Given the description of an element on the screen output the (x, y) to click on. 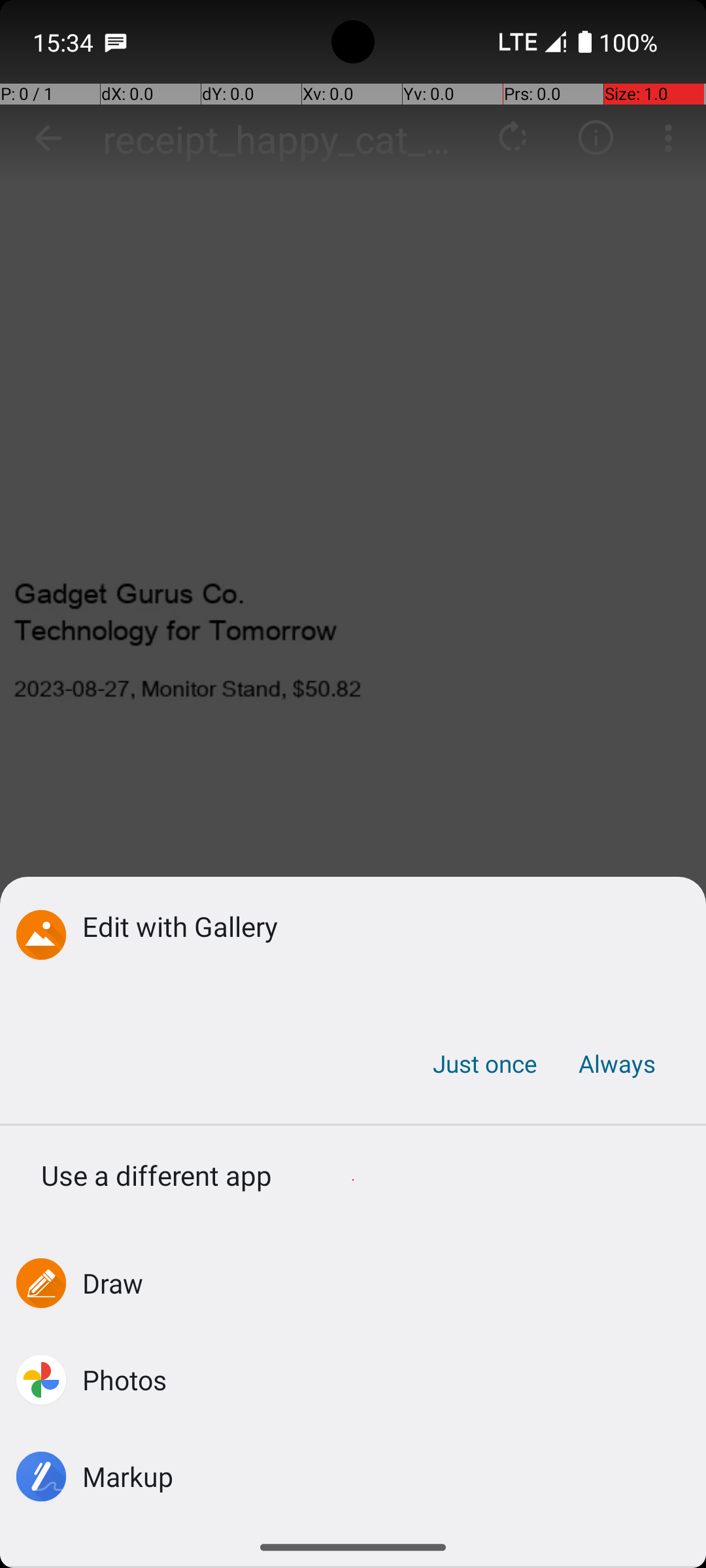
Edit with Gallery Element type: android.widget.TextView (373, 925)
Use a different app Element type: android.widget.TextView (353, 1179)
Draw Element type: android.widget.TextView (112, 1282)
Markup Element type: android.widget.TextView (127, 1475)
